Given the description of an element on the screen output the (x, y) to click on. 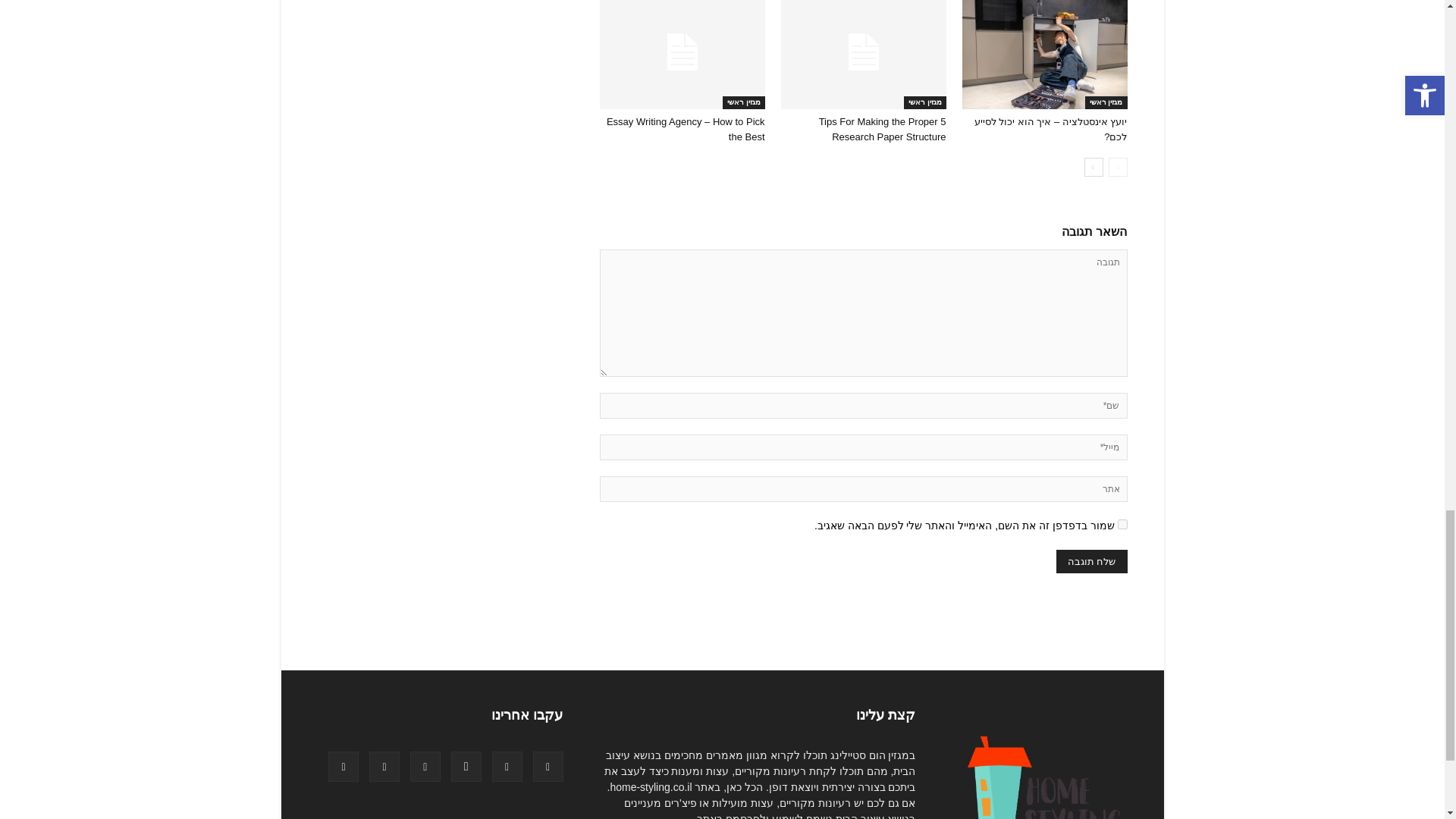
yes (1122, 524)
